Given the description of an element on the screen output the (x, y) to click on. 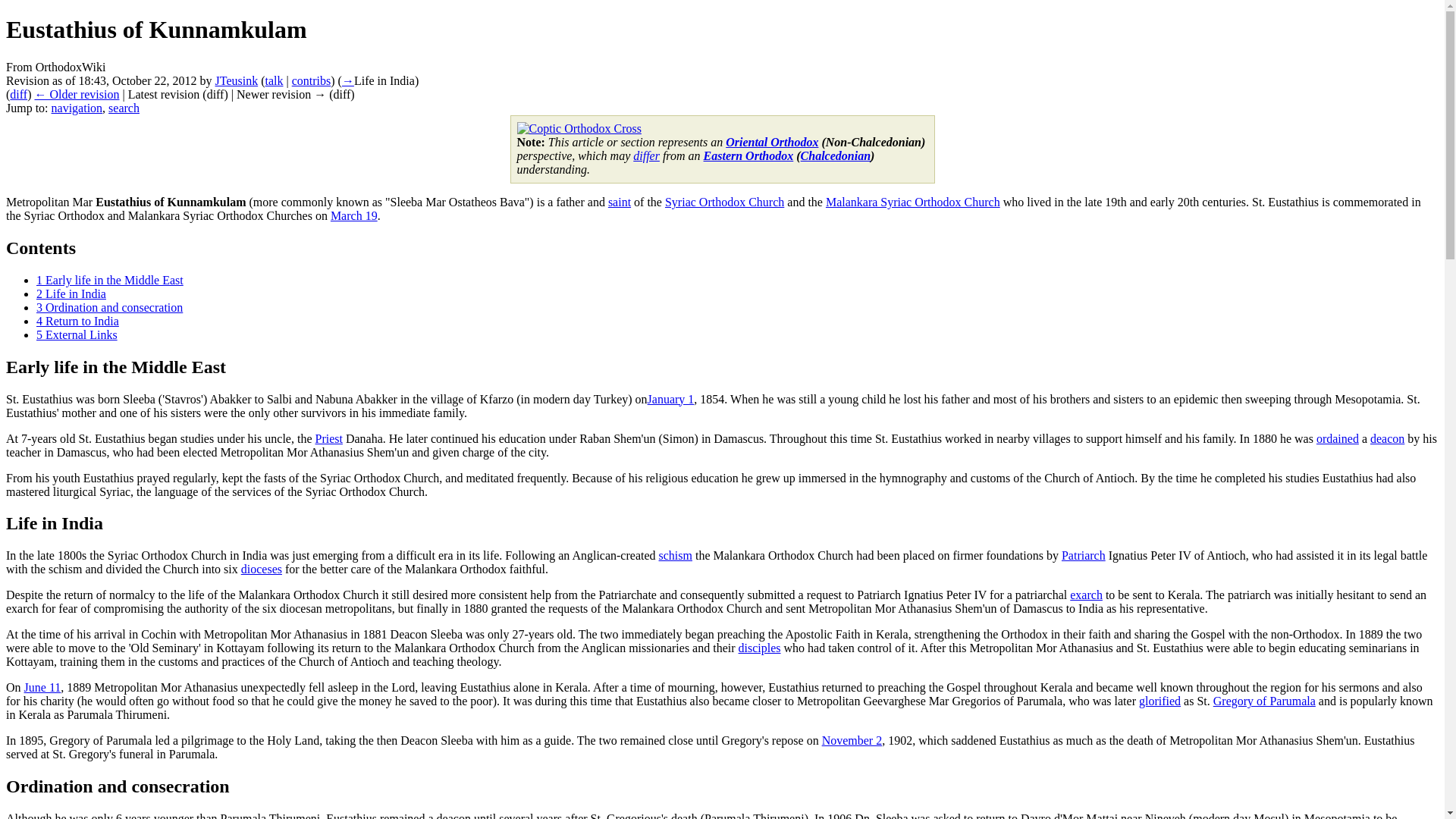
January 1 (670, 399)
diff (18, 93)
User talk:JTeusink (273, 80)
March 19 (353, 215)
JTeusink (237, 80)
saint (619, 201)
Oriental Orthodox (771, 141)
Malankara Syriac Orthodox Church (912, 201)
navigation (76, 107)
exarch (1086, 594)
dioceses (261, 568)
November 2 (852, 739)
disciples (759, 647)
Syriac Orthodox Church (724, 201)
Eastern Orthodox (748, 155)
